Given the description of an element on the screen output the (x, y) to click on. 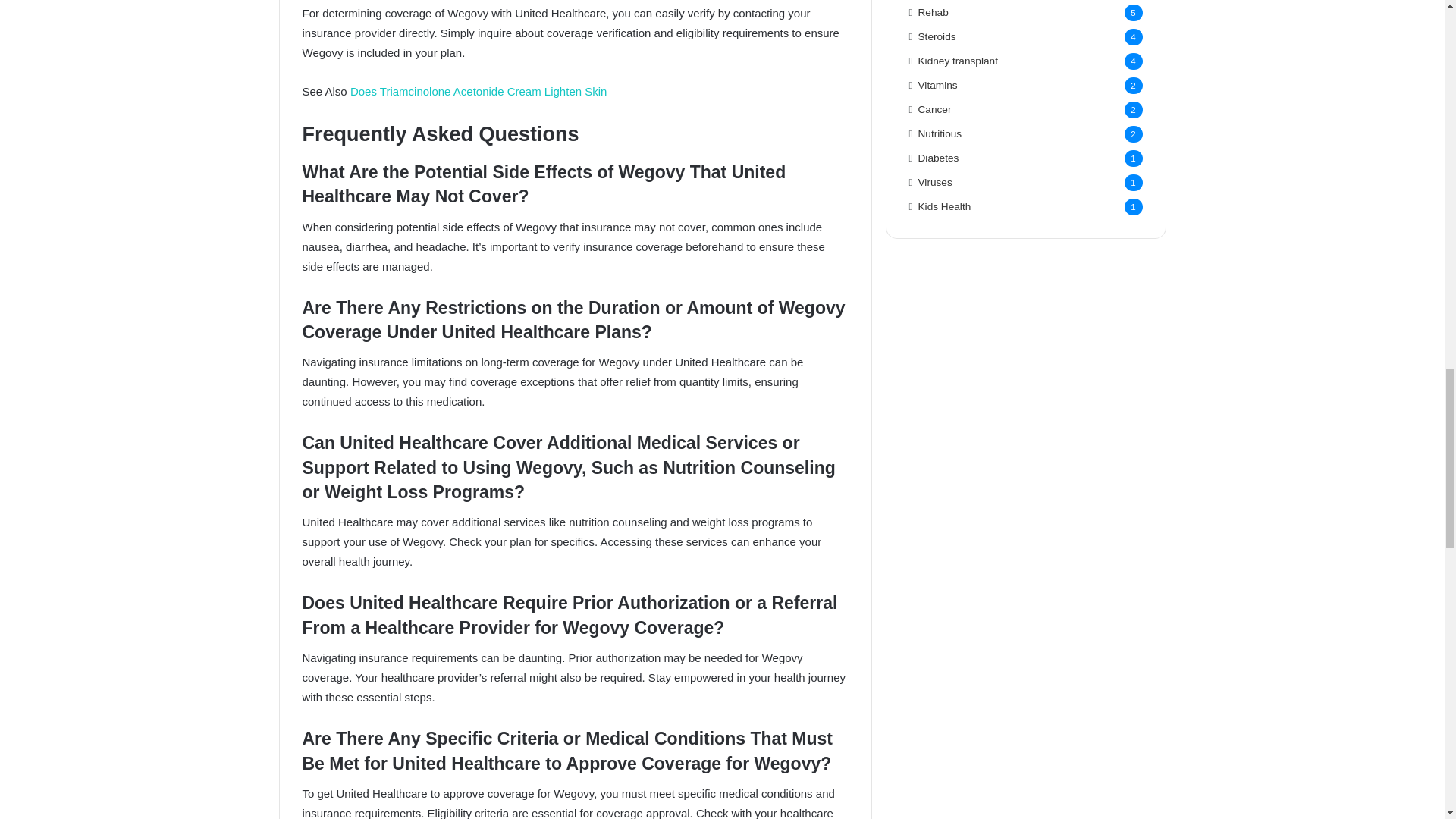
Does Triamcinolone Acetonide Cream Lighten Skin (478, 91)
